Given the description of an element on the screen output the (x, y) to click on. 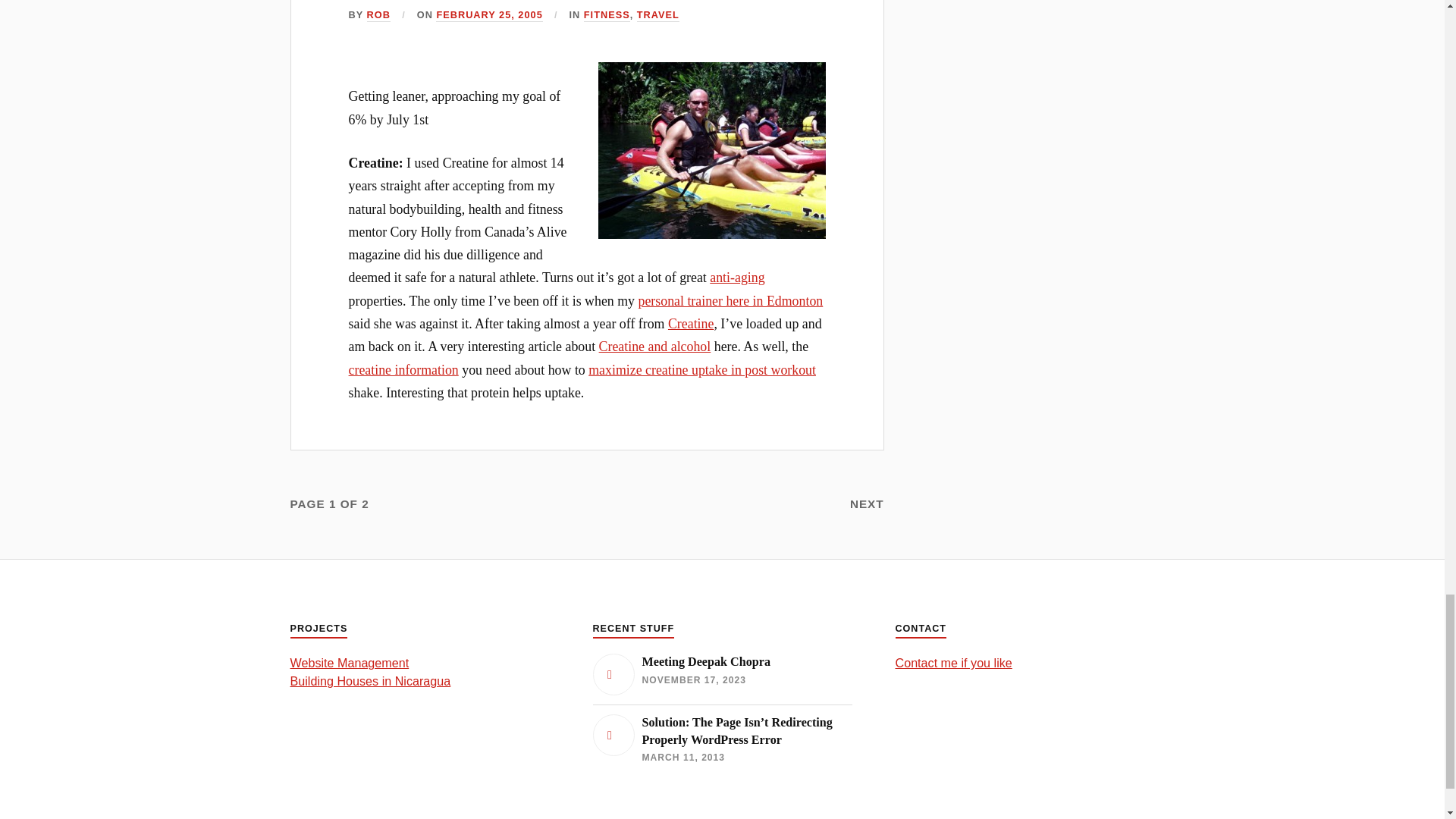
panama-kayak-costa-rica-cruise (711, 150)
Posts by Rob (378, 15)
